Given the description of an element on the screen output the (x, y) to click on. 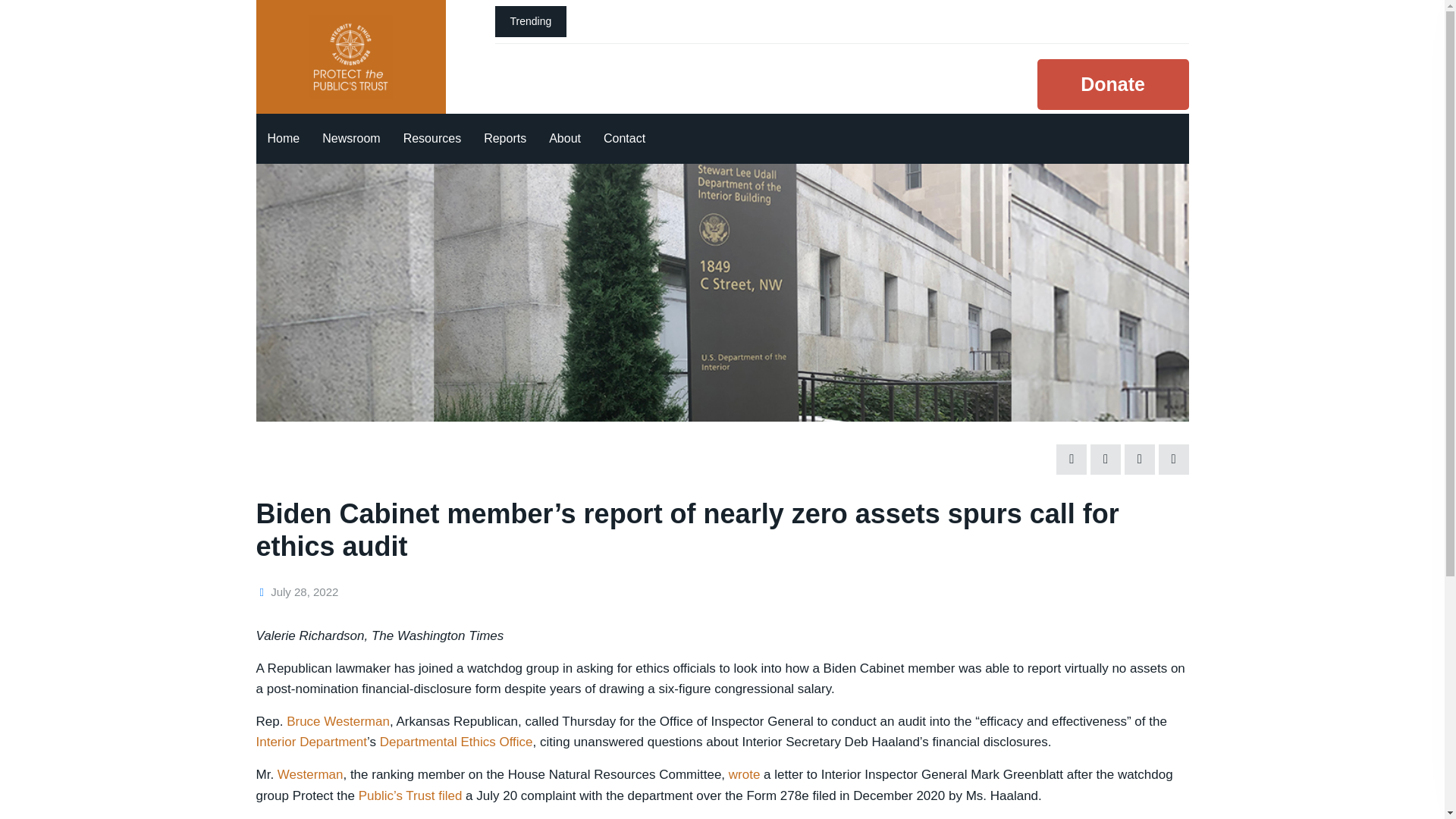
Contact (624, 138)
About (564, 138)
Resources (431, 138)
Newsroom (351, 138)
Home (283, 138)
Donate (1112, 83)
Reports (504, 138)
